Given the description of an element on the screen output the (x, y) to click on. 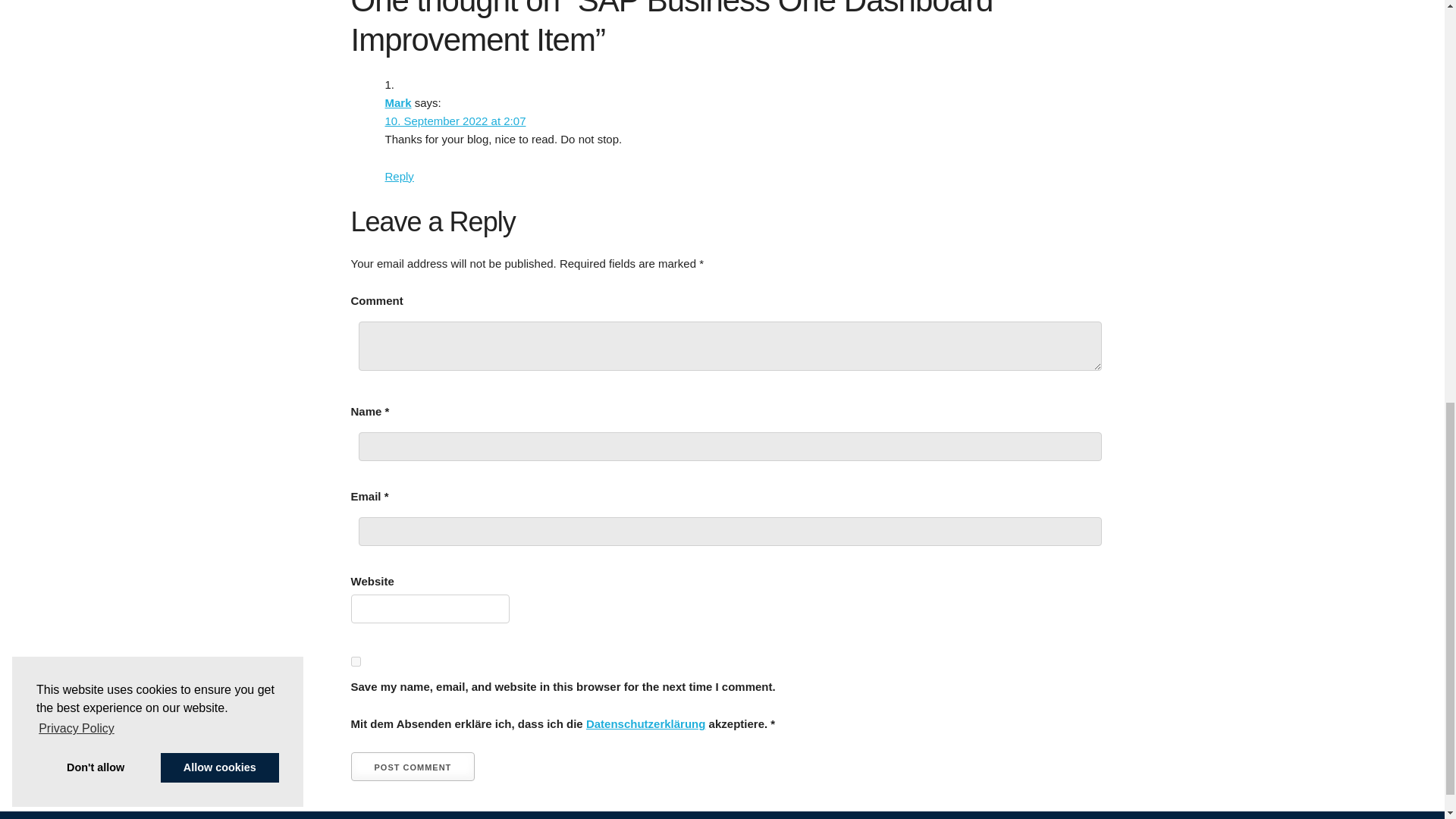
Post Comment (412, 766)
Post Comment (412, 766)
Mark (398, 102)
10. September 2022 at 2:07 (455, 120)
Reply (399, 175)
yes (354, 661)
